Given the description of an element on the screen output the (x, y) to click on. 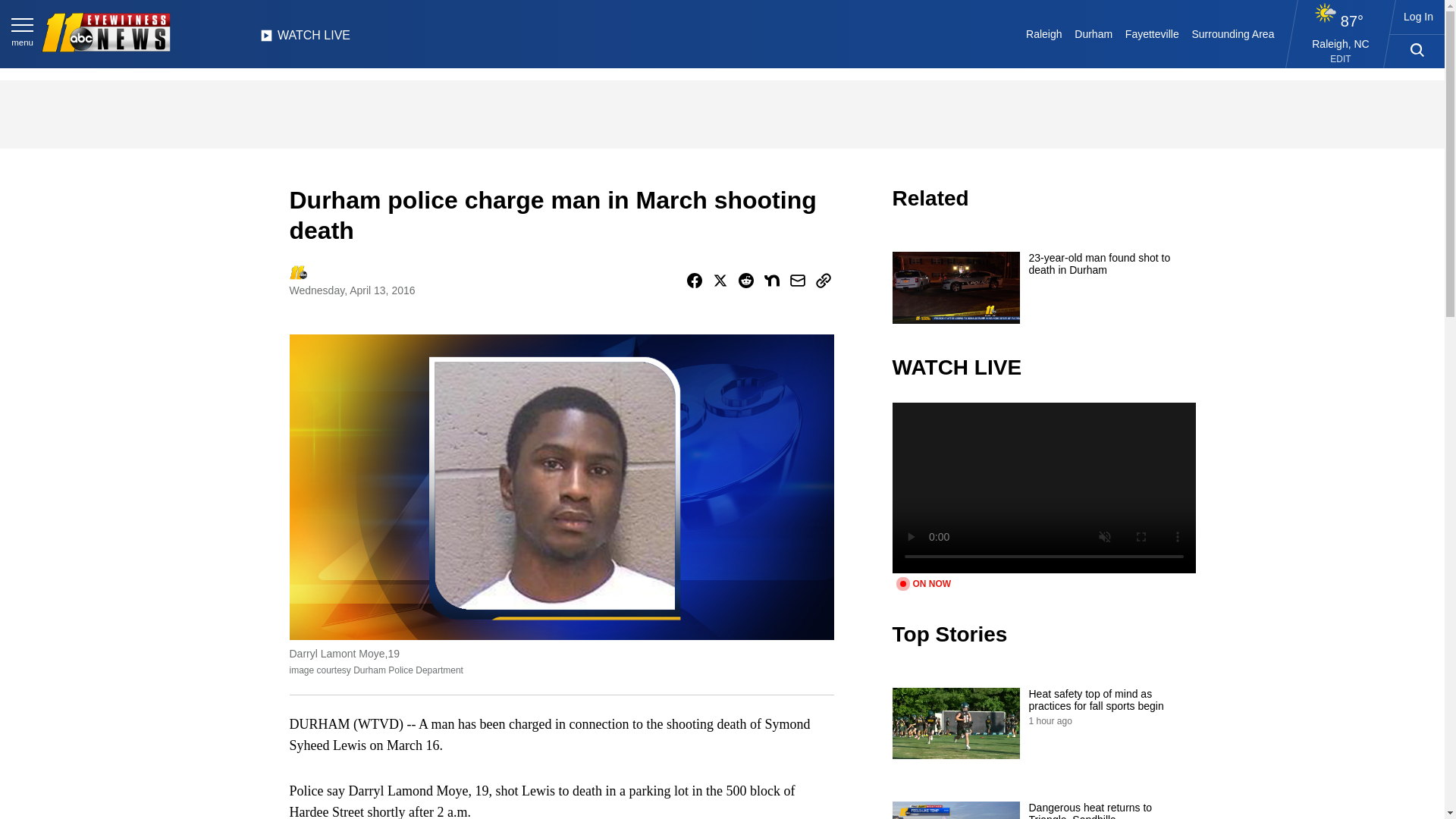
EDIT (1340, 59)
WATCH LIVE (305, 39)
Raleigh, NC (1340, 43)
Fayetteville (1151, 33)
Surrounding Area (1233, 33)
video.title (1043, 487)
Durham (1093, 33)
Raleigh (1044, 33)
